Given the description of an element on the screen output the (x, y) to click on. 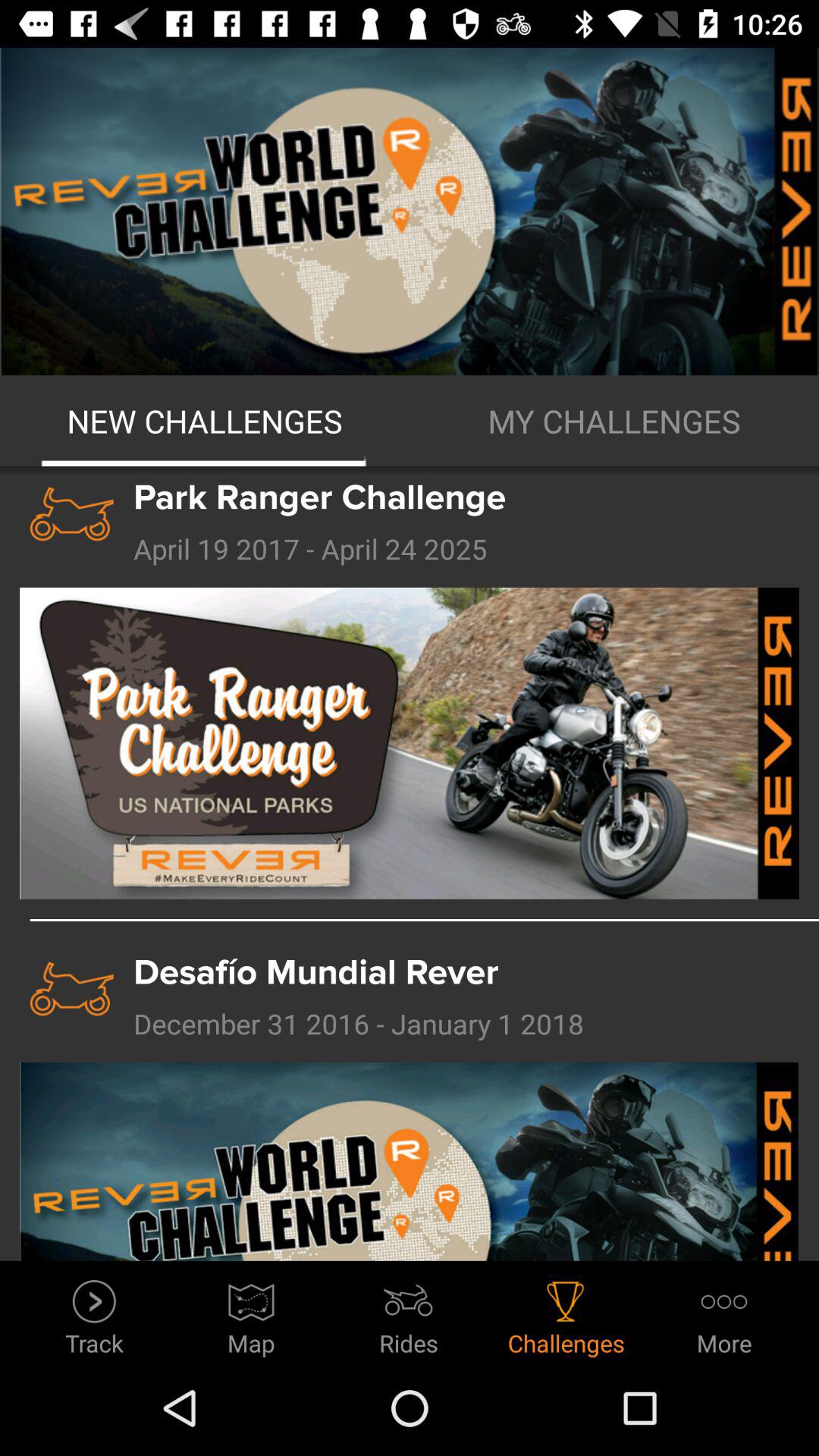
select the my challenges (614, 420)
